Given the description of an element on the screen output the (x, y) to click on. 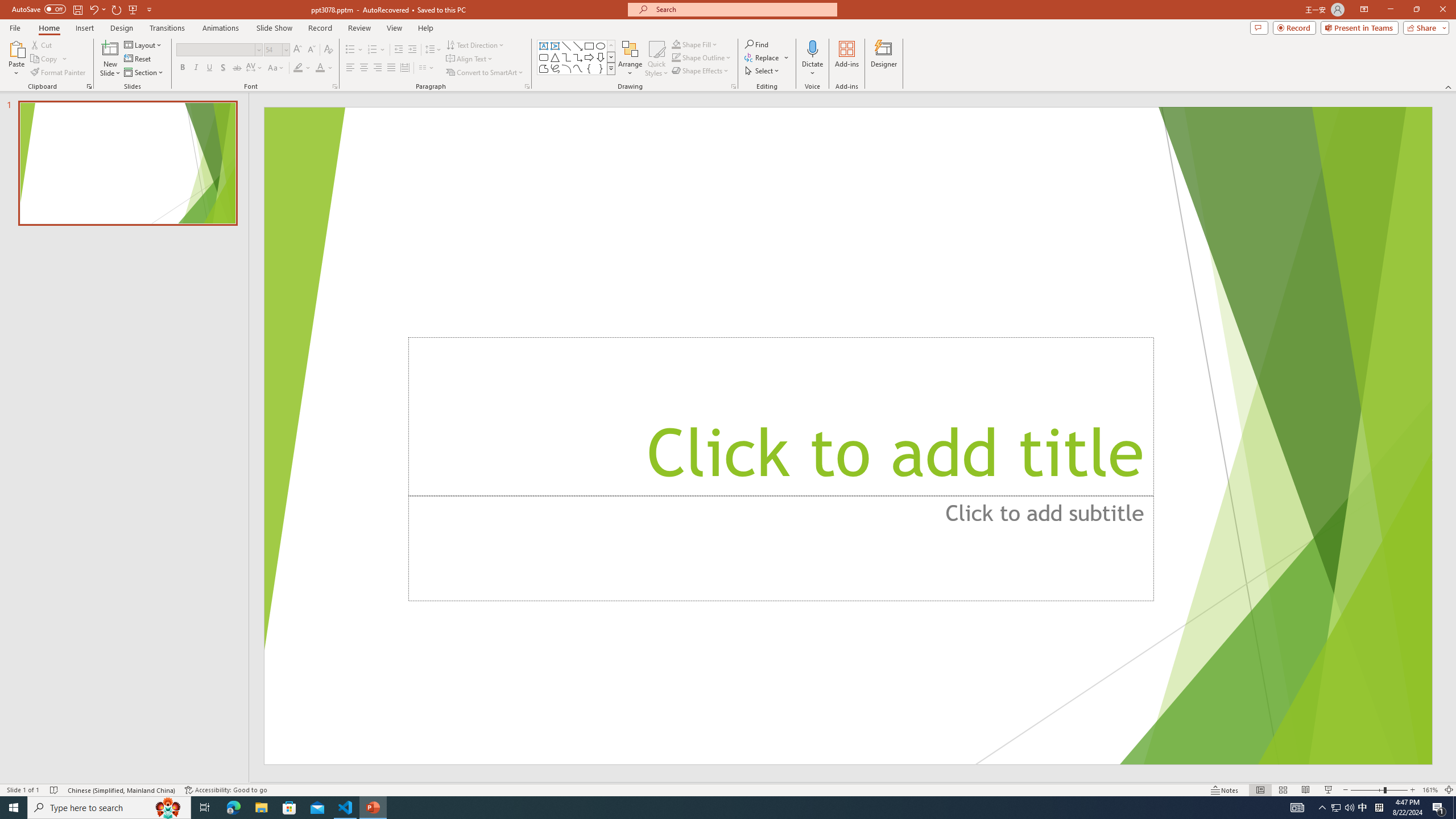
Numbering (376, 49)
